Given the description of an element on the screen output the (x, y) to click on. 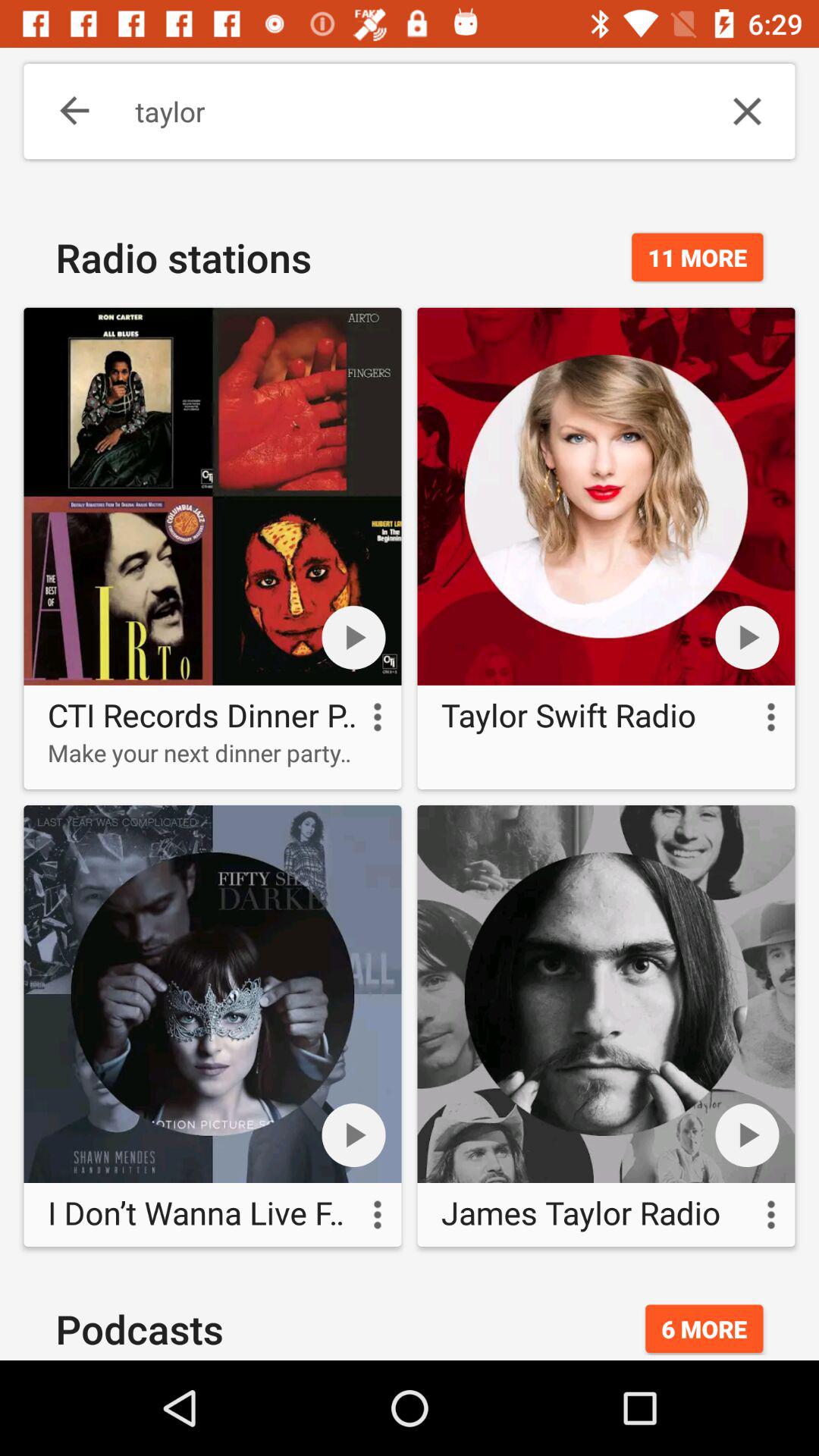
press 6 more item (704, 1328)
